Given the description of an element on the screen output the (x, y) to click on. 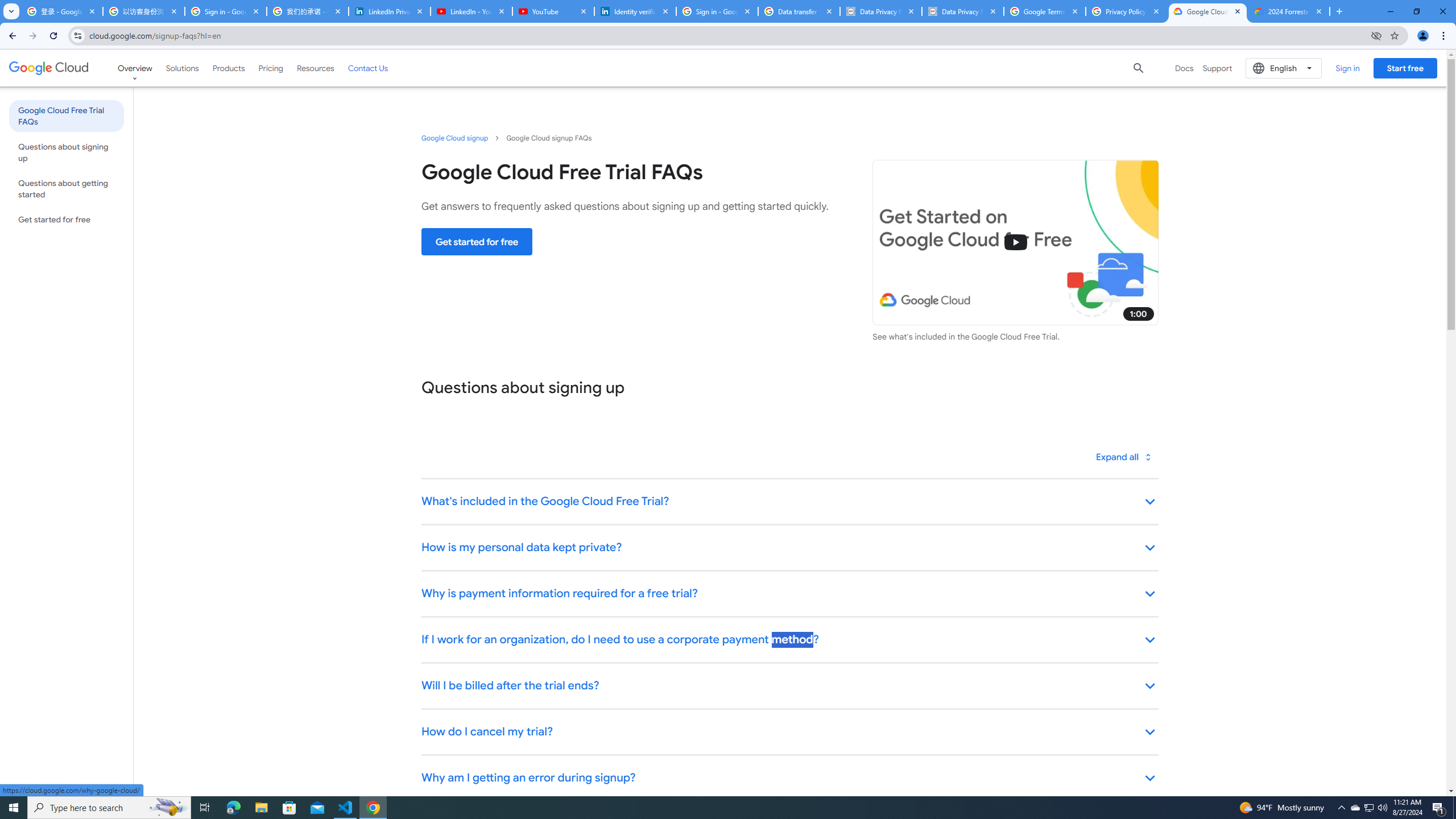
LinkedIn Privacy Policy (389, 11)
Contact Us (368, 67)
Google Cloud Free Trial FAQs (65, 115)
Sign in - Google Accounts (225, 11)
Identity verification via Persona | LinkedIn Help (635, 11)
Toggle all (1123, 456)
